Given the description of an element on the screen output the (x, y) to click on. 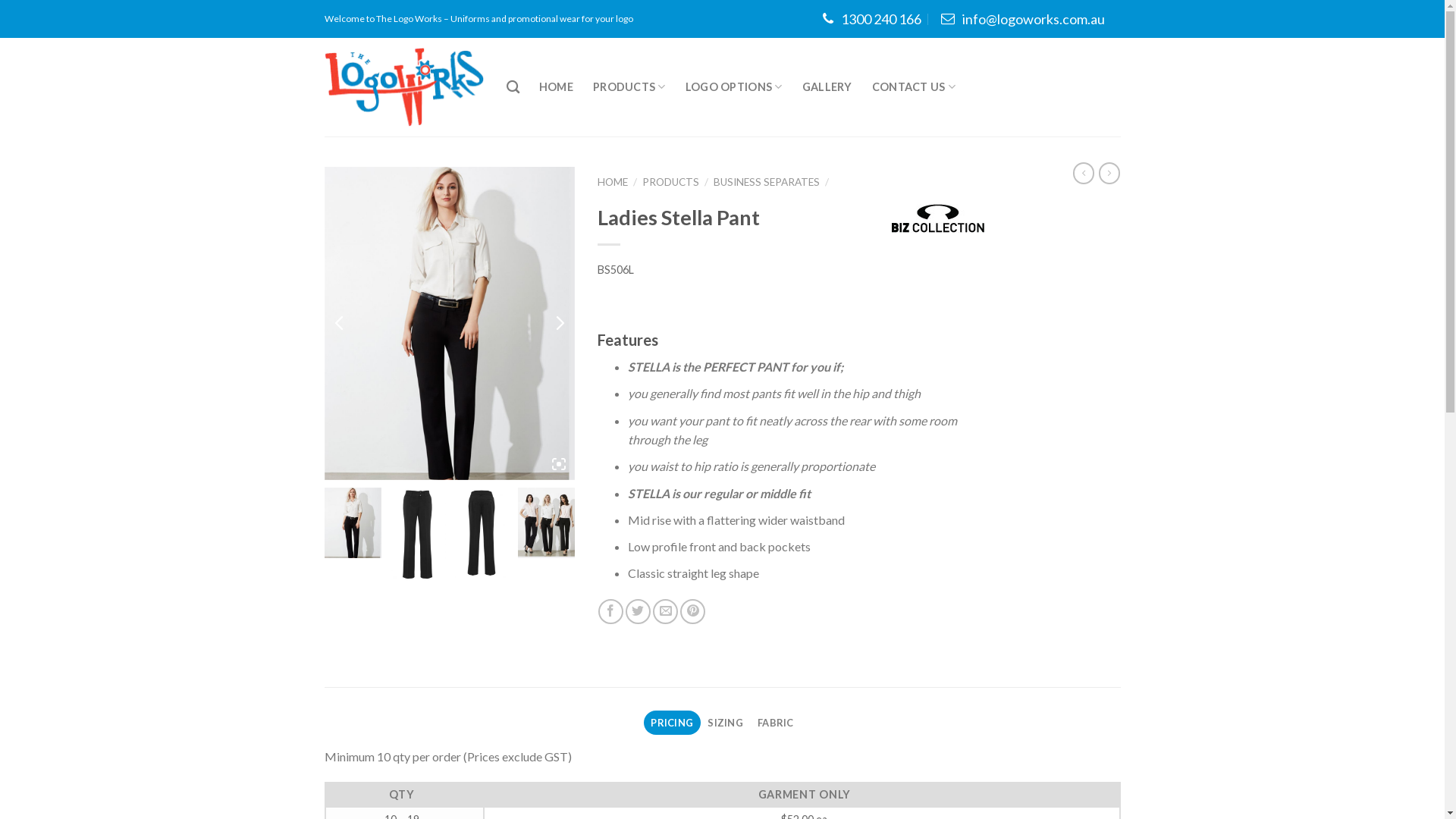
Pin on Pinterest Element type: hover (692, 611)
PRODUCTS Element type: text (670, 181)
Biz Collection Stella Perfect Pant BS506L HERO2 Element type: hover (449, 323)
CONTACT US Element type: text (913, 86)
HOME Element type: text (556, 86)
Email to a Friend Element type: hover (664, 611)
BUSINESS SEPARATES Element type: text (766, 181)
HOME Element type: text (612, 181)
GALLERY Element type: text (827, 86)
Share on Facebook Element type: hover (610, 611)
1300 240 166 Element type: text (871, 18)
LOGO OPTIONS Element type: text (733, 86)
Biz Collection Ladies Perfect Pant Group2 Shot HERO Element type: hover (199, 323)
Share on Twitter Element type: hover (637, 611)
info@logoworks.com.au Element type: text (1022, 18)
FABRIC Element type: text (774, 722)
Biz Collection Ladies Perfect Pant Group2 Shot HERO Element type: hover (545, 522)
Biz Collection Stella Perfect Pant BS506L HERO2 Element type: hover (352, 522)
Logoworks - Uniforms and promotional wear  for your logo Element type: hover (403, 87)
PRODUCTS Element type: text (629, 86)
SIZING Element type: text (725, 722)
PRICING Element type: text (671, 722)
